Given the description of an element on the screen output the (x, y) to click on. 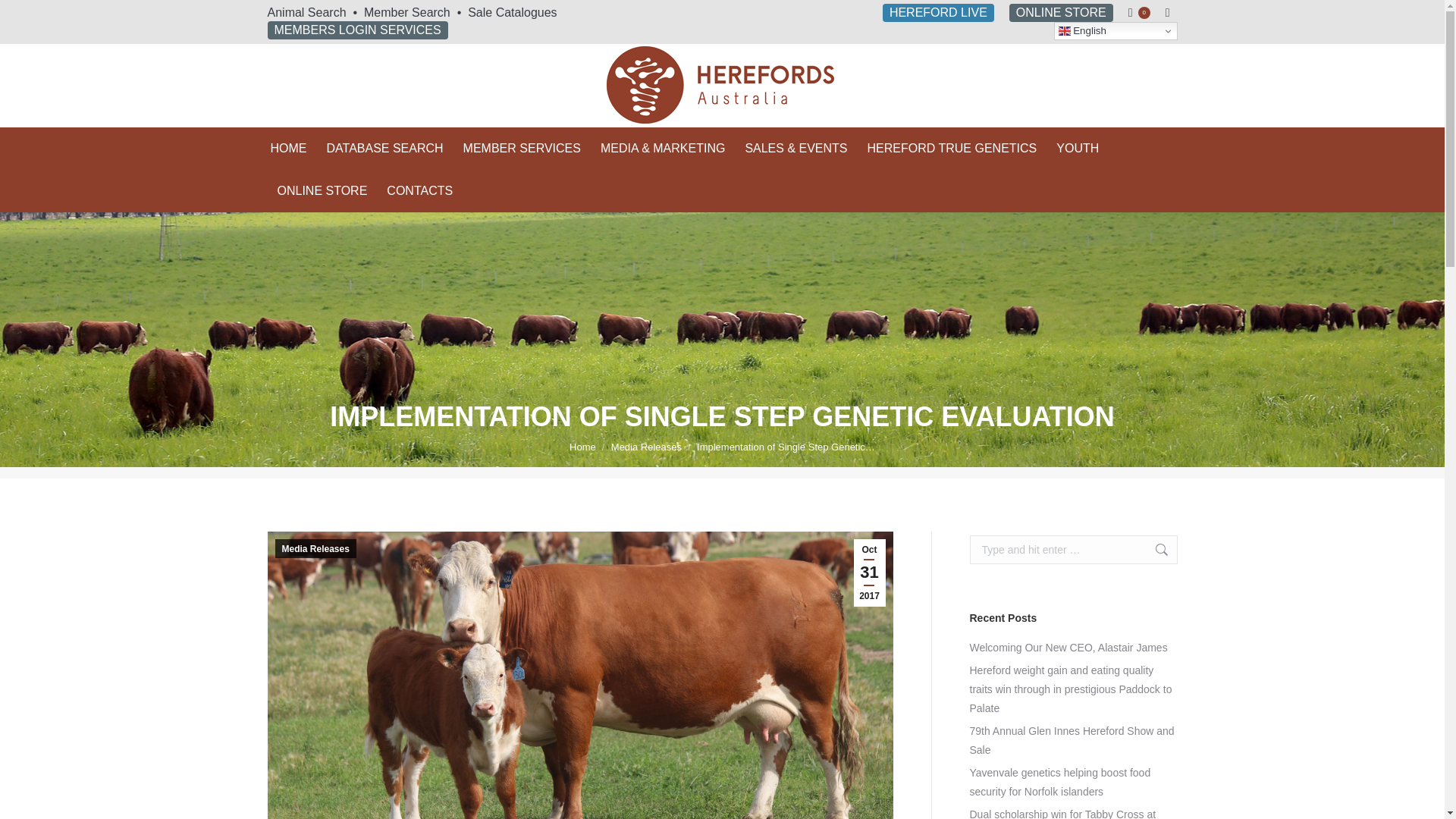
Go! (24, 16)
Sale Catalogues (511, 11)
Member Search (406, 11)
English (1115, 31)
ONLINE STORE (1061, 13)
MEMBER SERVICES (521, 148)
DATABASE SEARCH (384, 148)
Animal Search (306, 11)
Go! (1153, 549)
MEMBERS LOGIN SERVICES (356, 30)
